Given the description of an element on the screen output the (x, y) to click on. 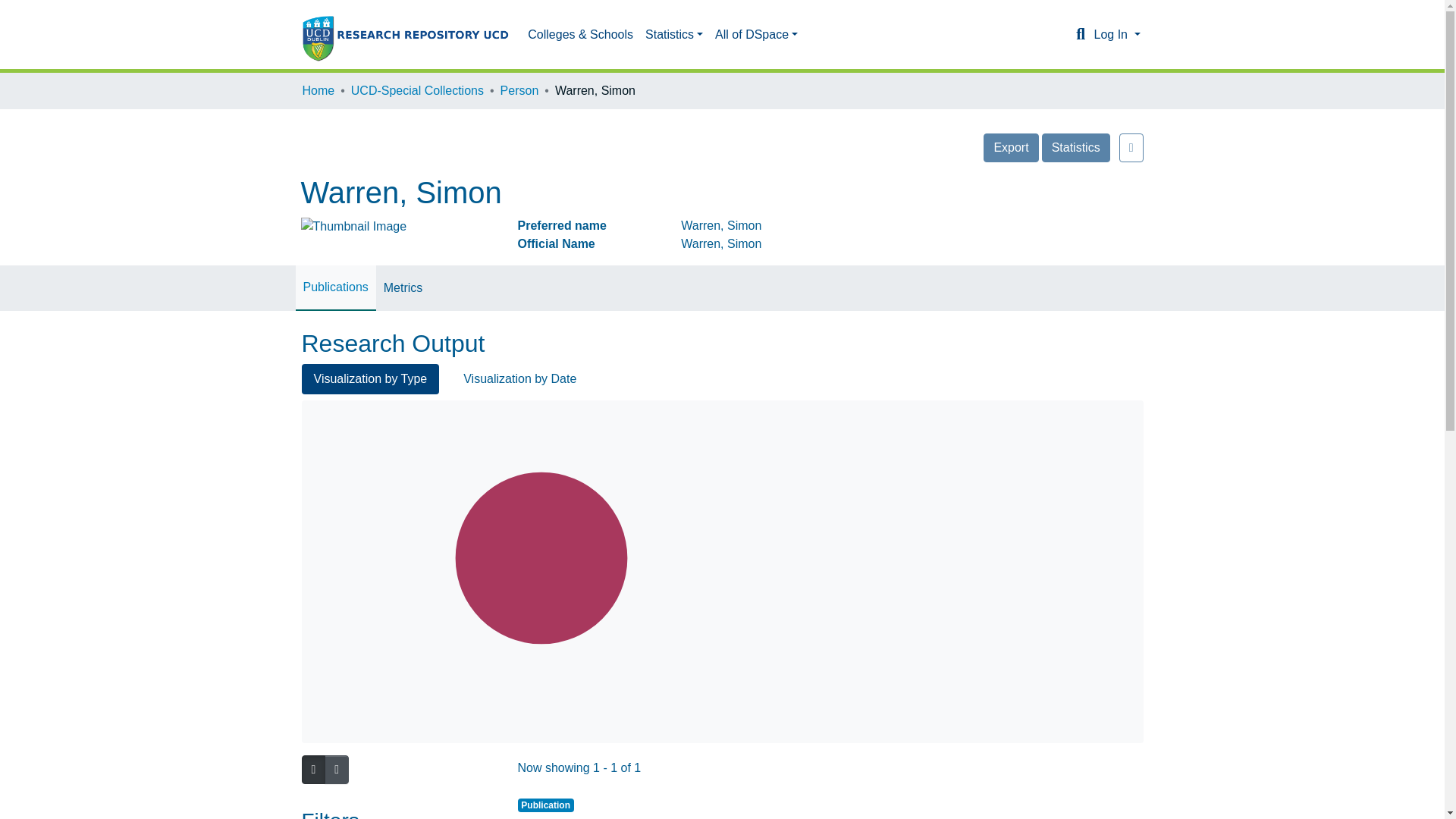
Statistics (674, 34)
Metrics (402, 288)
Publications (335, 287)
Person (519, 90)
All of DSpace (756, 34)
Home (317, 90)
Metrics (402, 288)
Show as grid (336, 769)
UCD-Special Collections (416, 90)
Visualization by Type (370, 378)
Statistics (1075, 147)
Show as list (313, 769)
Log In (1116, 33)
Publications (335, 287)
Export (1011, 147)
